Given the description of an element on the screen output the (x, y) to click on. 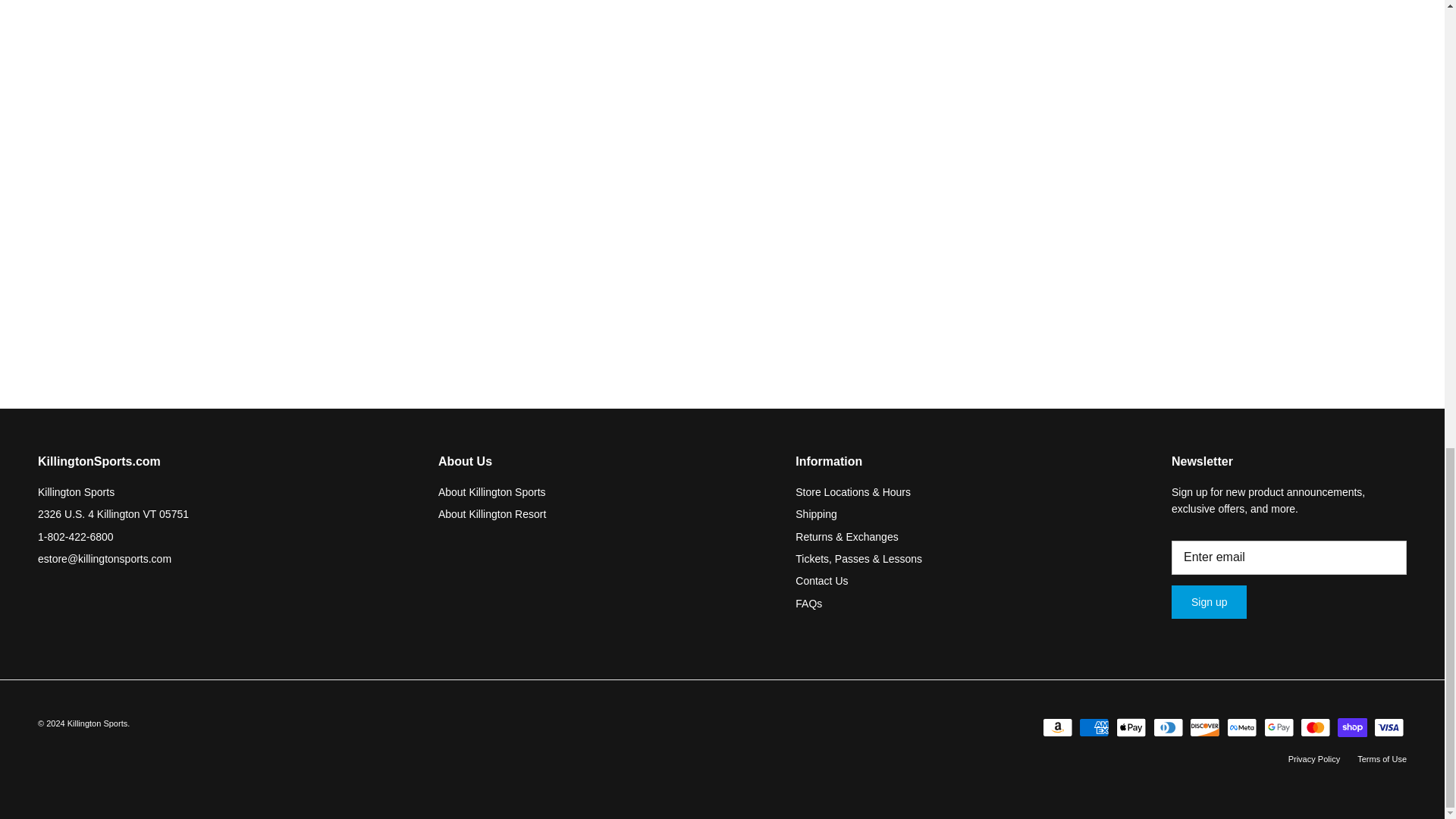
Diners Club (1168, 727)
Discover (1204, 727)
Meta Pay (1241, 727)
Amazon (1057, 727)
Apple Pay (1130, 727)
Mastercard (1315, 727)
Visa (1388, 727)
Google Pay (1277, 727)
Shop Pay (1352, 727)
American Express (1093, 727)
